Given the description of an element on the screen output the (x, y) to click on. 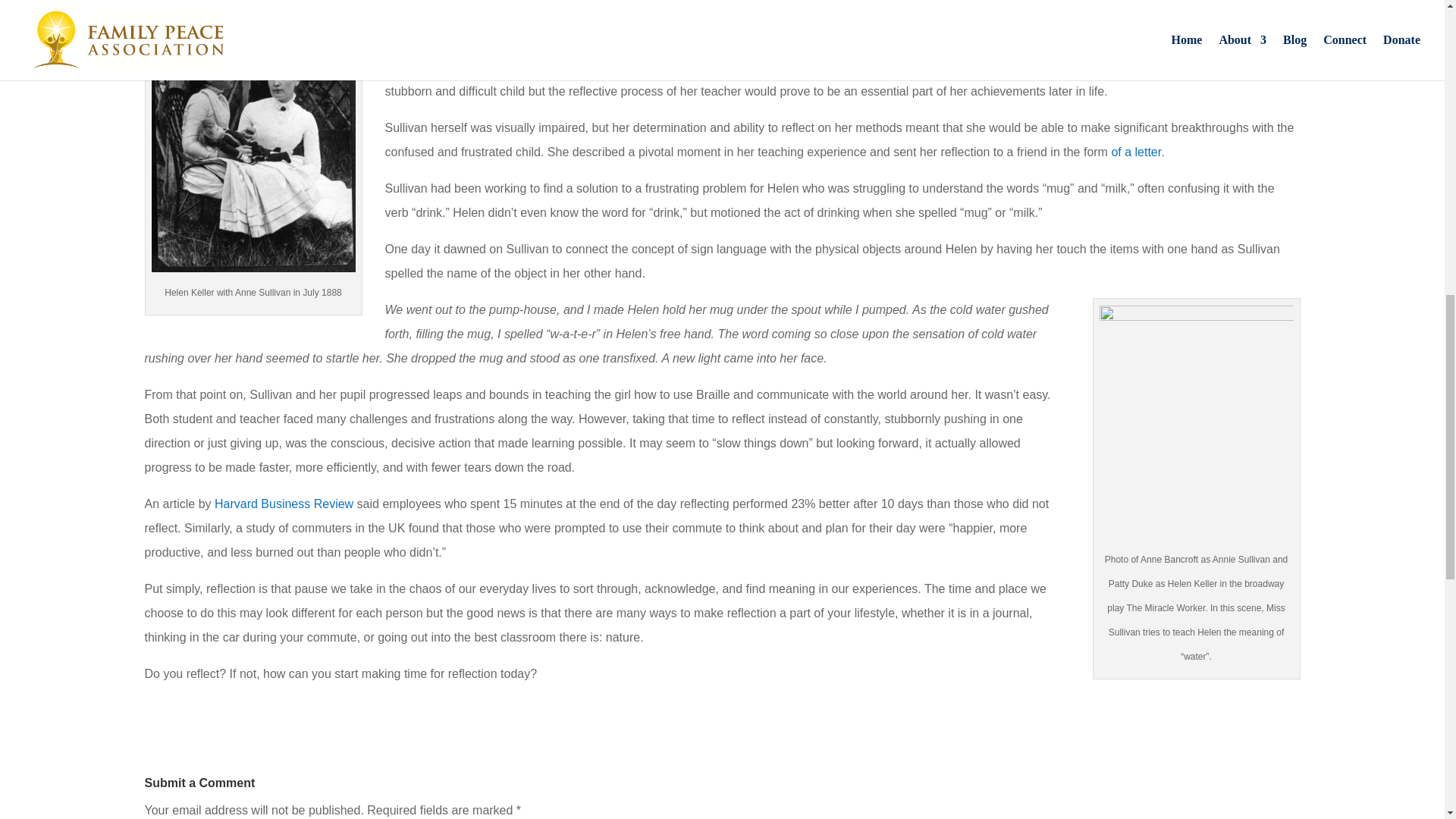
of a letter (1135, 151)
Helen Keller (1143, 42)
Harvard Business Review (283, 503)
